Given the description of an element on the screen output the (x, y) to click on. 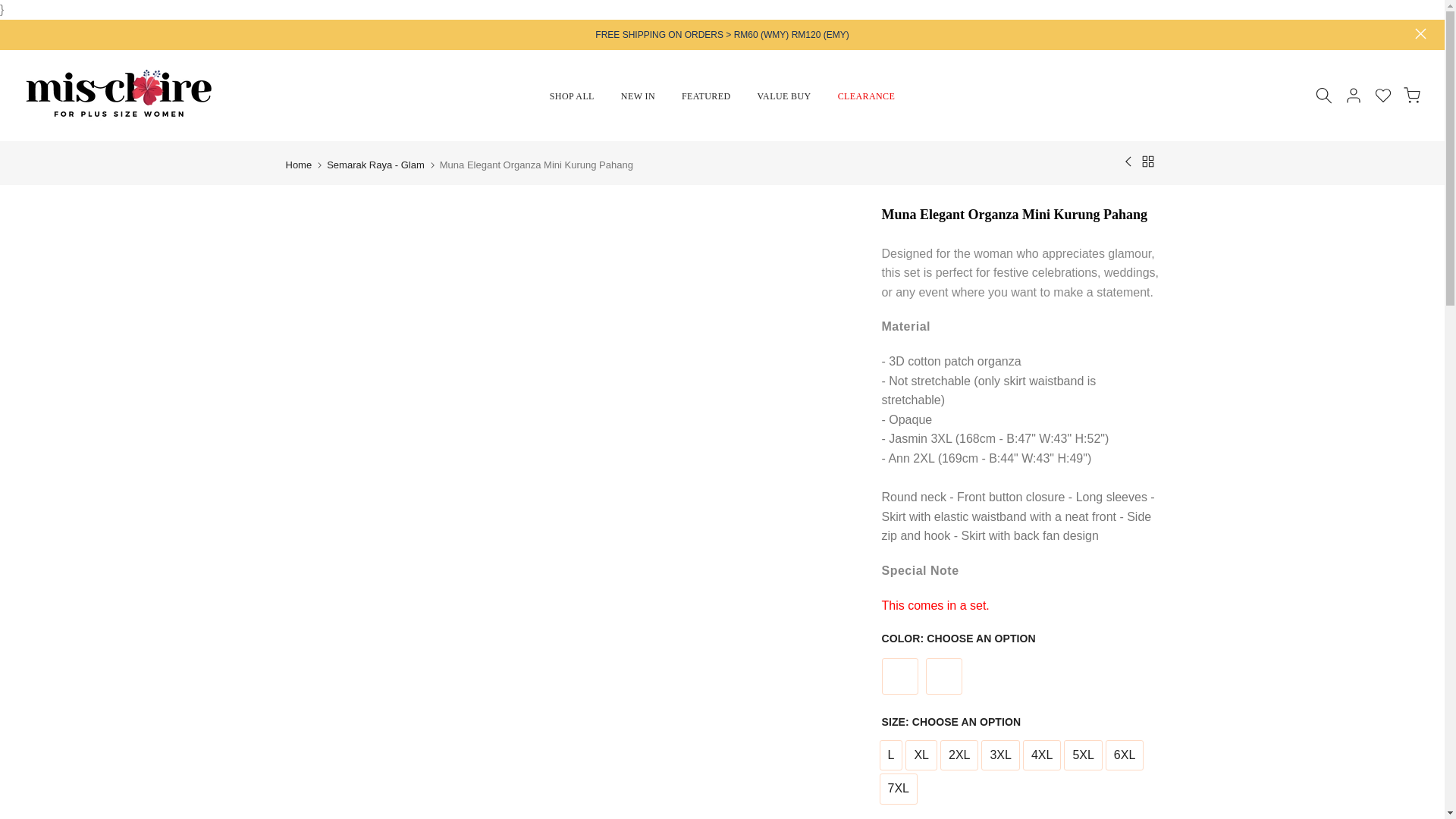
CLEARANCE (866, 95)
close (1420, 33)
NEW IN (637, 95)
SHOP ALL (571, 95)
Sand (942, 676)
Skip to content (14, 7)
VALUE BUY (784, 95)
Home (298, 164)
Semarak Raya - Glam (375, 164)
Black (898, 676)
